Given the description of an element on the screen output the (x, y) to click on. 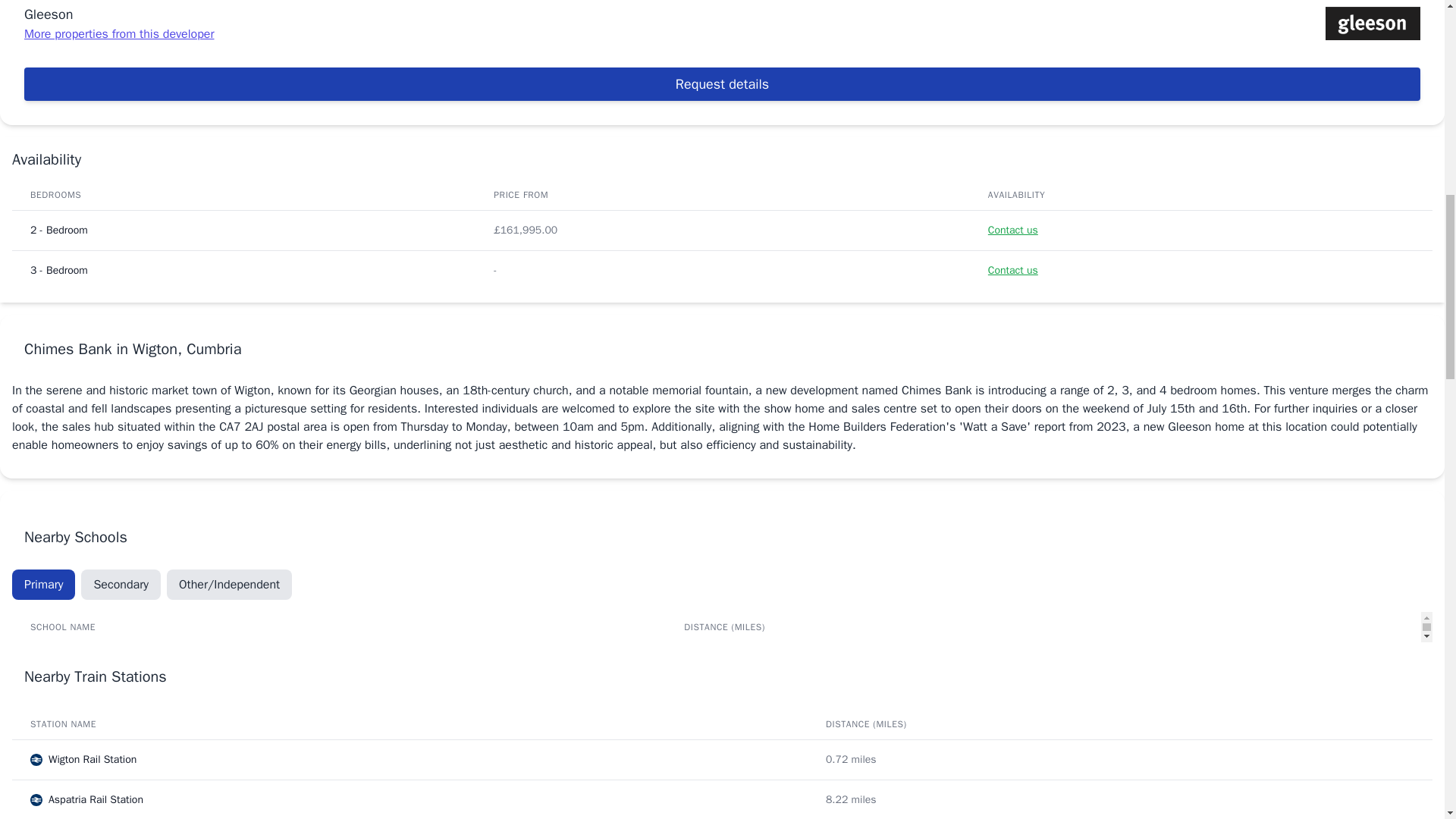
More properties from this developer (119, 33)
Primary (43, 584)
Request details (722, 83)
Contact us (1013, 229)
Secondary (120, 584)
Contact us (1013, 269)
